Given the description of an element on the screen output the (x, y) to click on. 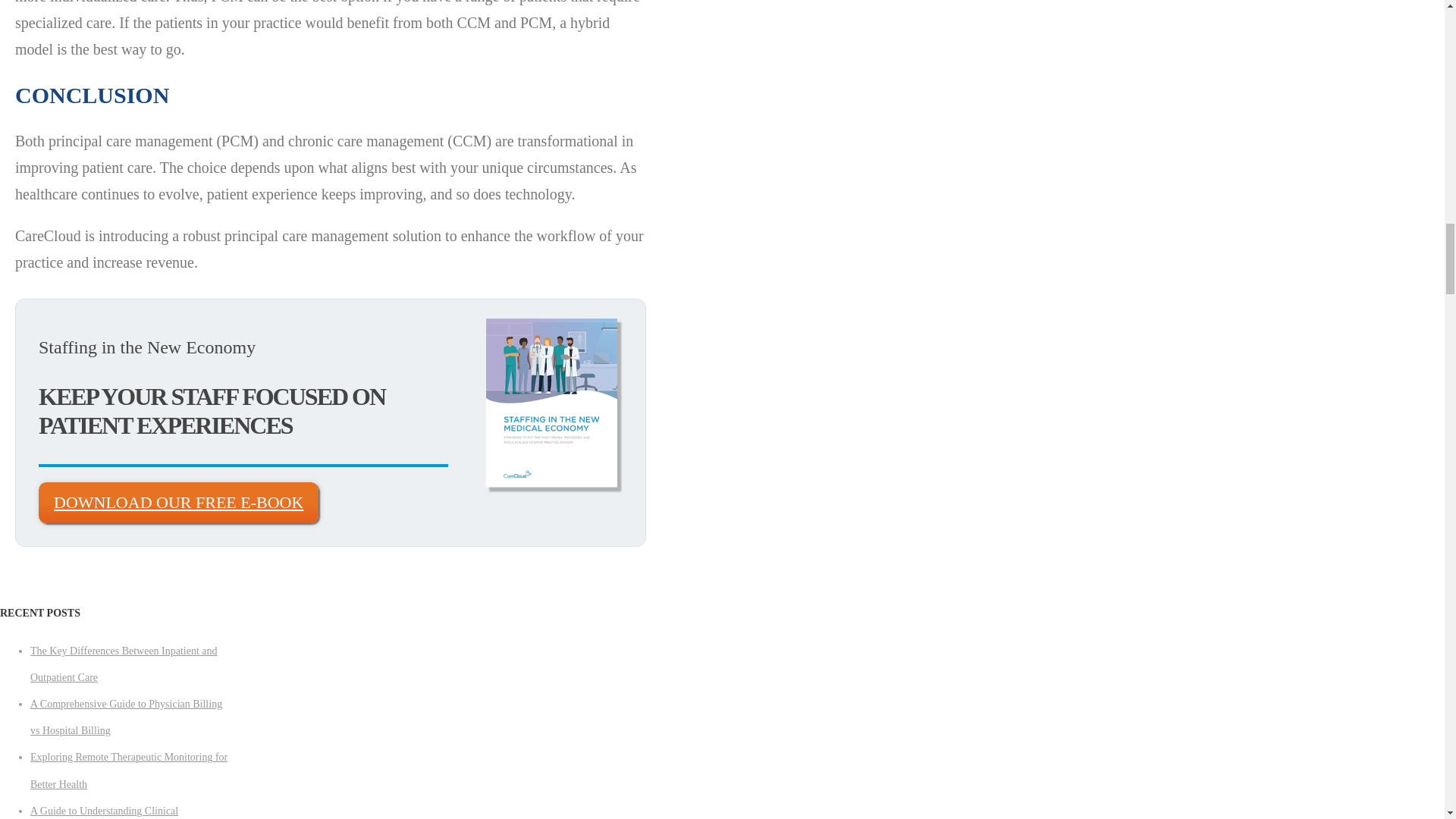
DOWNLOAD OUR FREE E-BOOK (178, 502)
The Key Differences Between Inpatient and Outpatient Care (123, 664)
Exploring Remote Therapeutic Monitoring for Better Health (128, 770)
